Given the description of an element on the screen output the (x, y) to click on. 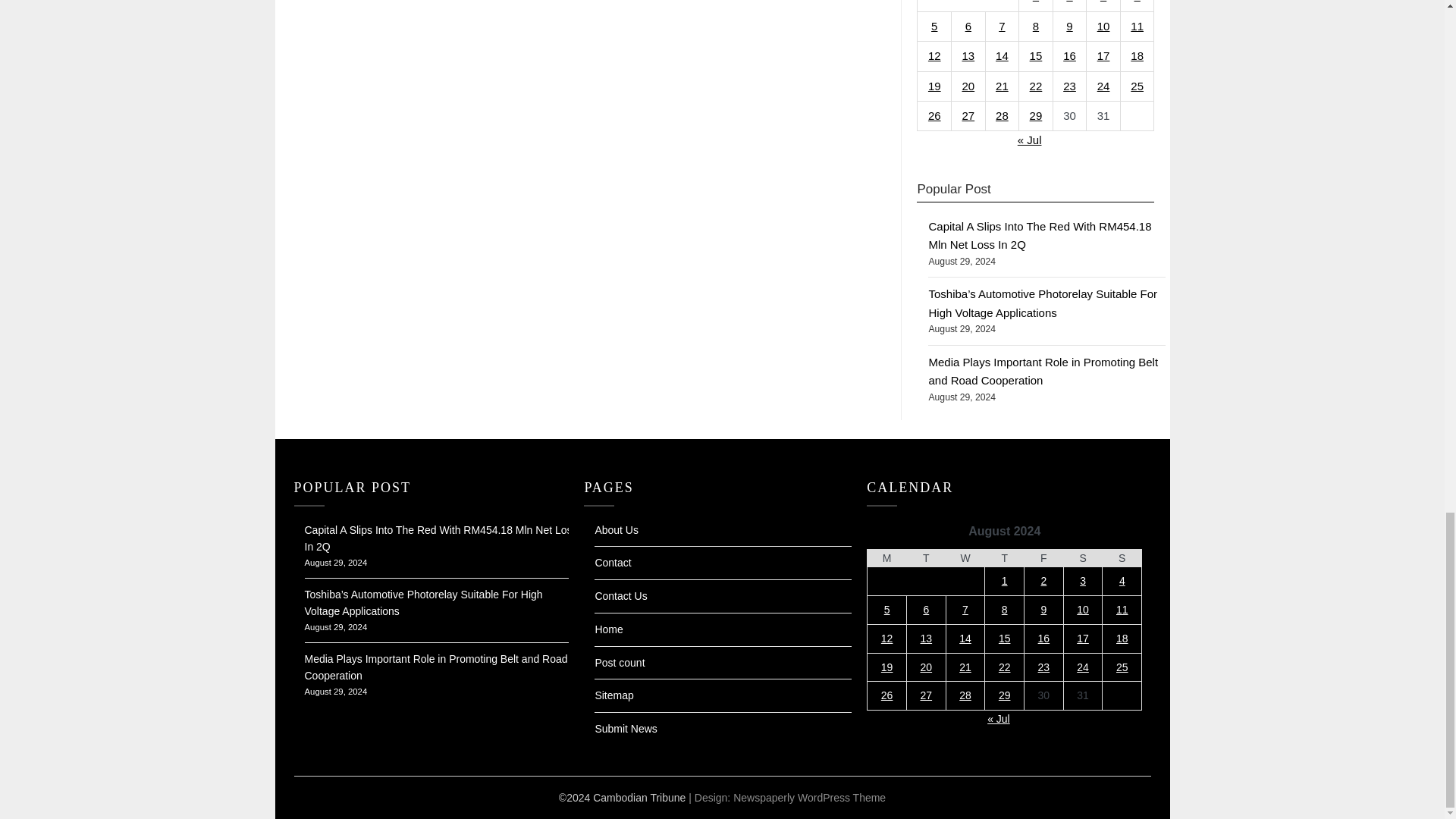
Wednesday (964, 557)
Monday (887, 557)
Thursday (1005, 557)
Tuesday (924, 557)
